Given the description of an element on the screen output the (x, y) to click on. 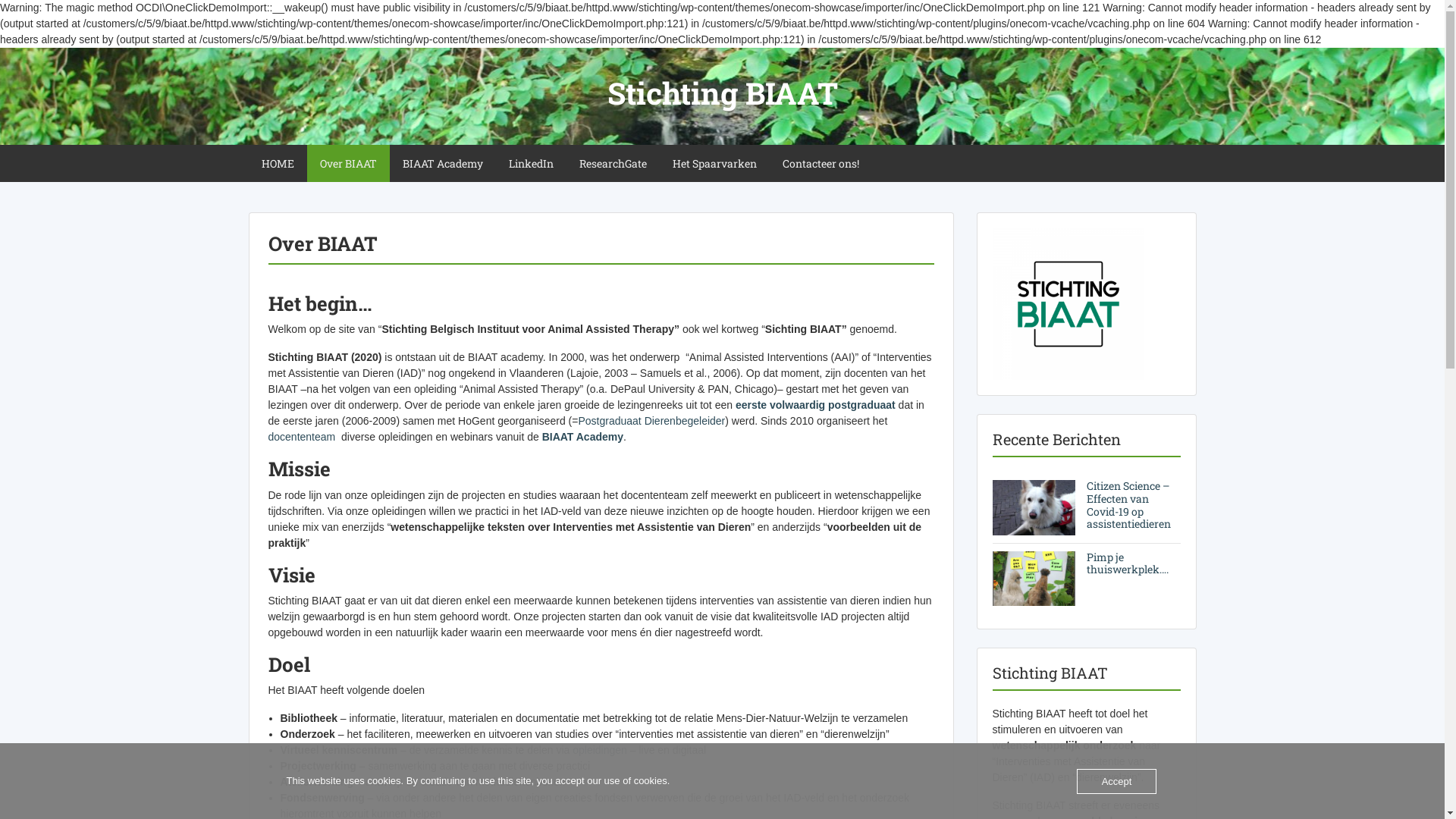
HOME Element type: text (277, 163)
Stichting BIAAT Element type: text (721, 92)
BIAAT Academy Element type: text (582, 436)
BIAAT Academy Element type: text (442, 163)
Het Spaarvarken Element type: text (714, 163)
Accept Element type: text (1116, 780)
ResearchGate Element type: text (611, 163)
Postgraduaat Dierenbegeleider Element type: text (650, 420)
eerste volwaardig postgraduaat Element type: text (815, 404)
docententeam Element type: text (301, 436)
opleidingen Element type: text (599, 749)
Contacteer ons! Element type: text (819, 163)
LinkedIn Element type: text (530, 163)
Over BIAAT Element type: text (347, 163)
